Given the description of an element on the screen output the (x, y) to click on. 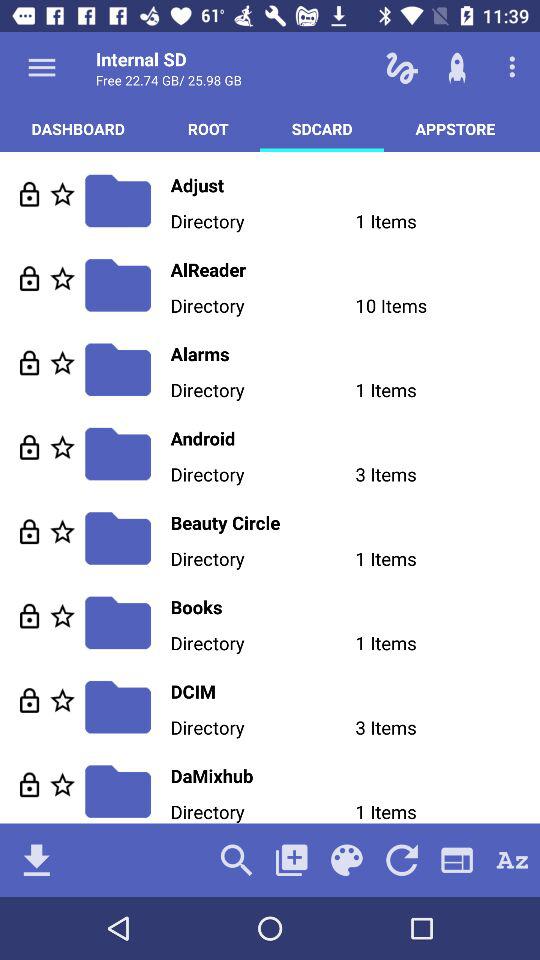
go to favourite (62, 531)
